Given the description of an element on the screen output the (x, y) to click on. 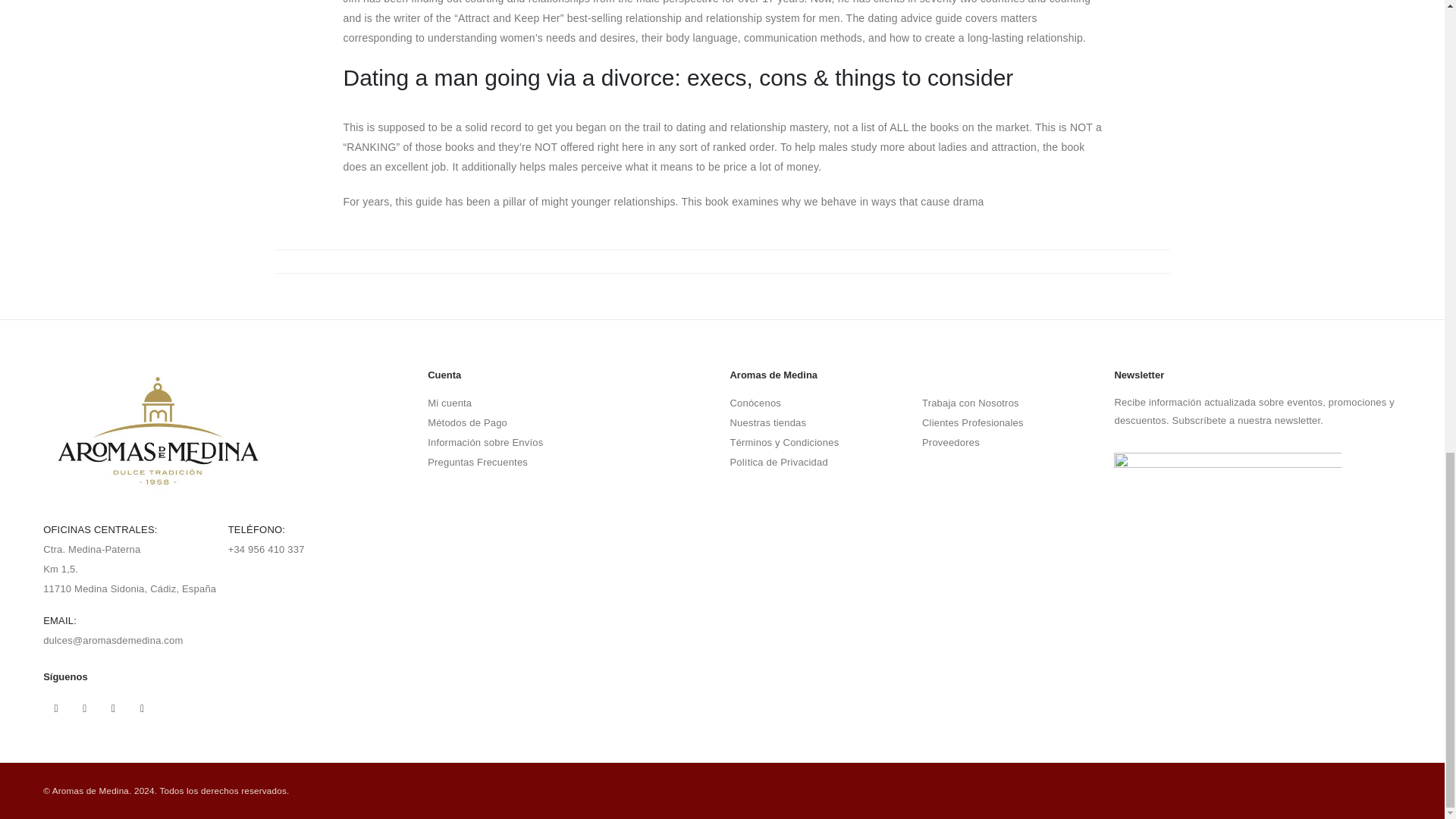
Linkedin (142, 707)
Instagram (113, 707)
About us (754, 402)
Facebook (55, 707)
Twitter (85, 707)
